Given the description of an element on the screen output the (x, y) to click on. 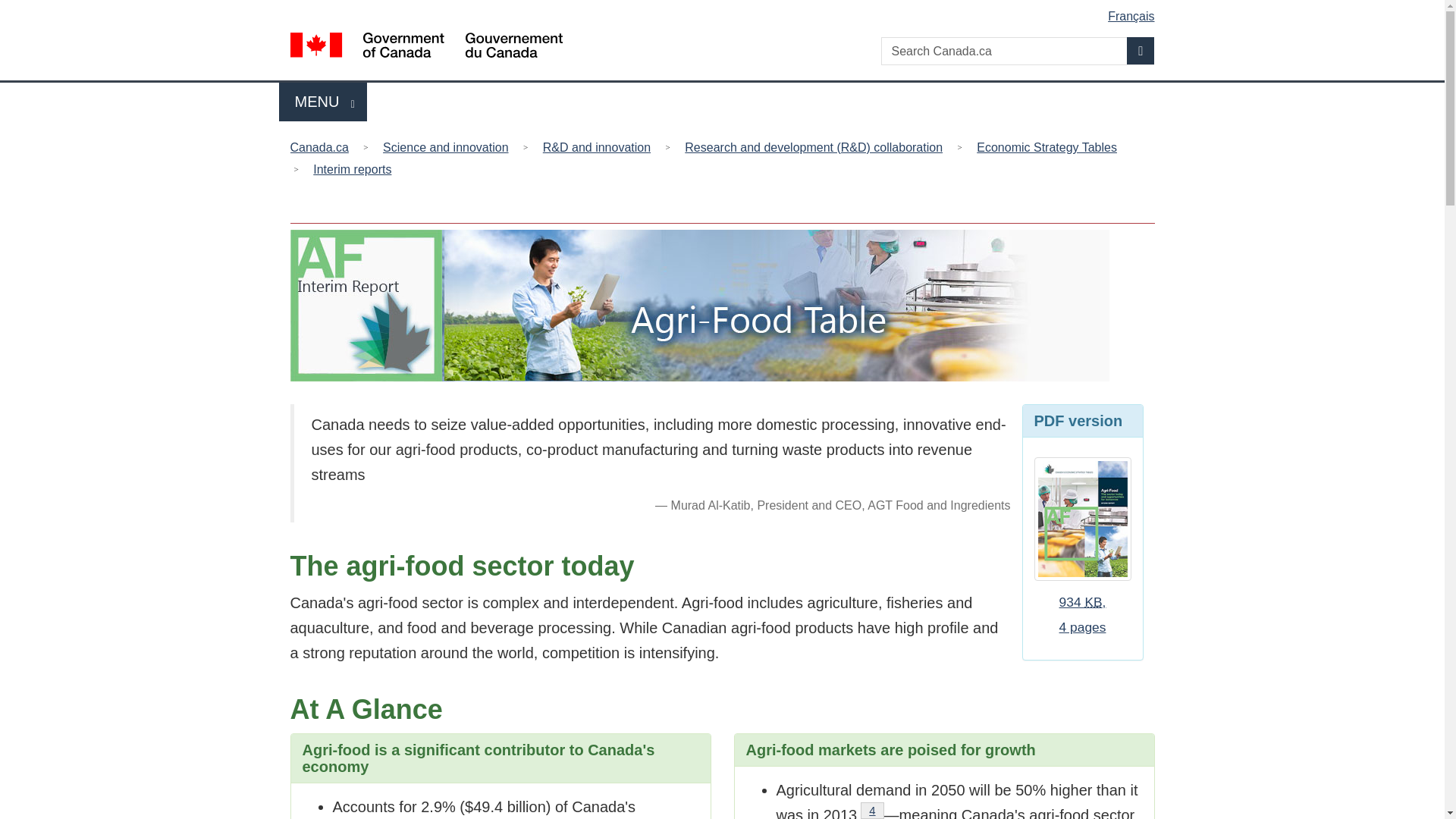
Search (1140, 50)
Skip to main content (725, 11)
kilobytes (1093, 601)
Agri-food Interim report (1082, 614)
Search (322, 101)
